Given the description of an element on the screen output the (x, y) to click on. 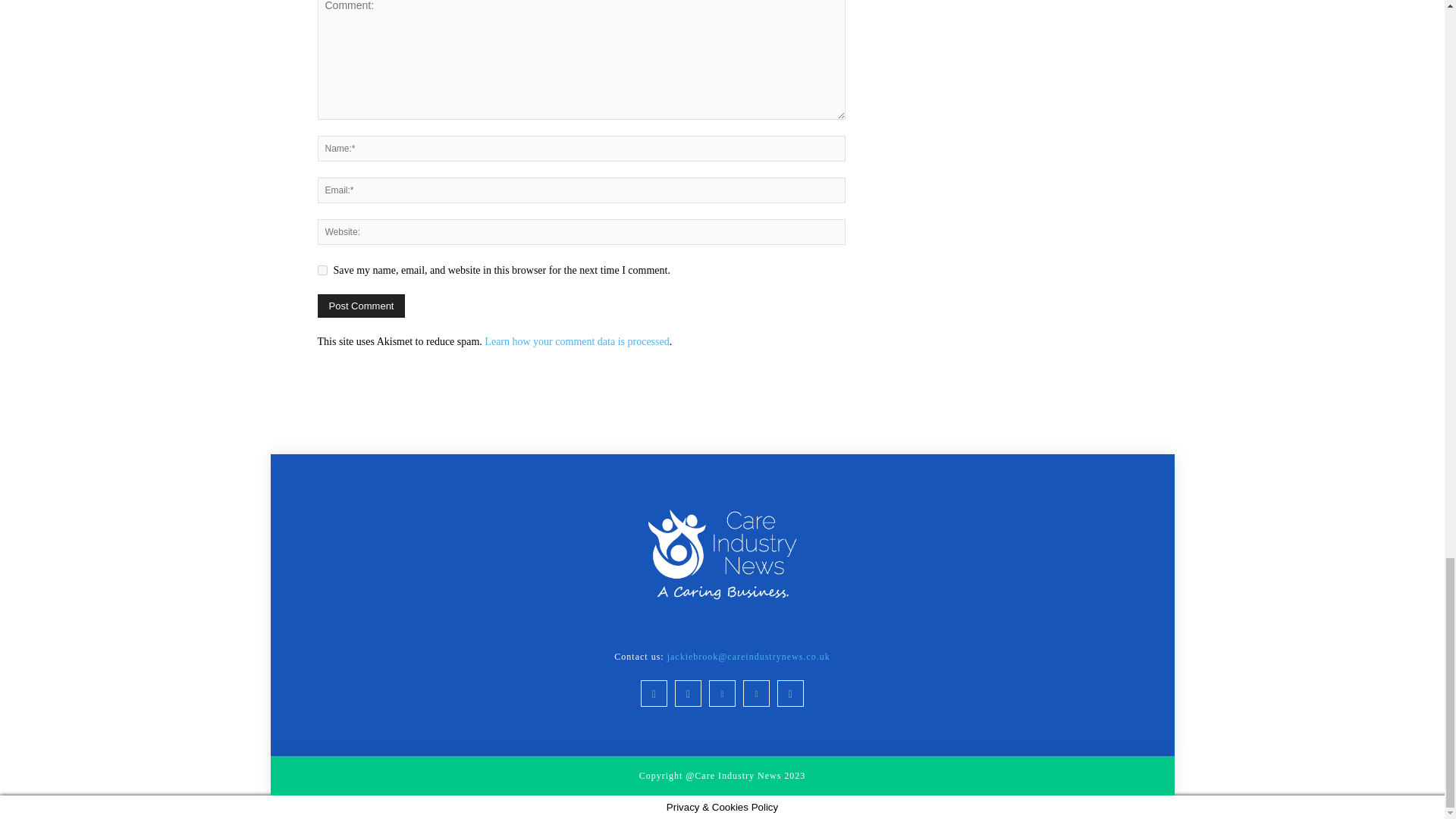
Post Comment (360, 305)
yes (321, 270)
